Given the description of an element on the screen output the (x, y) to click on. 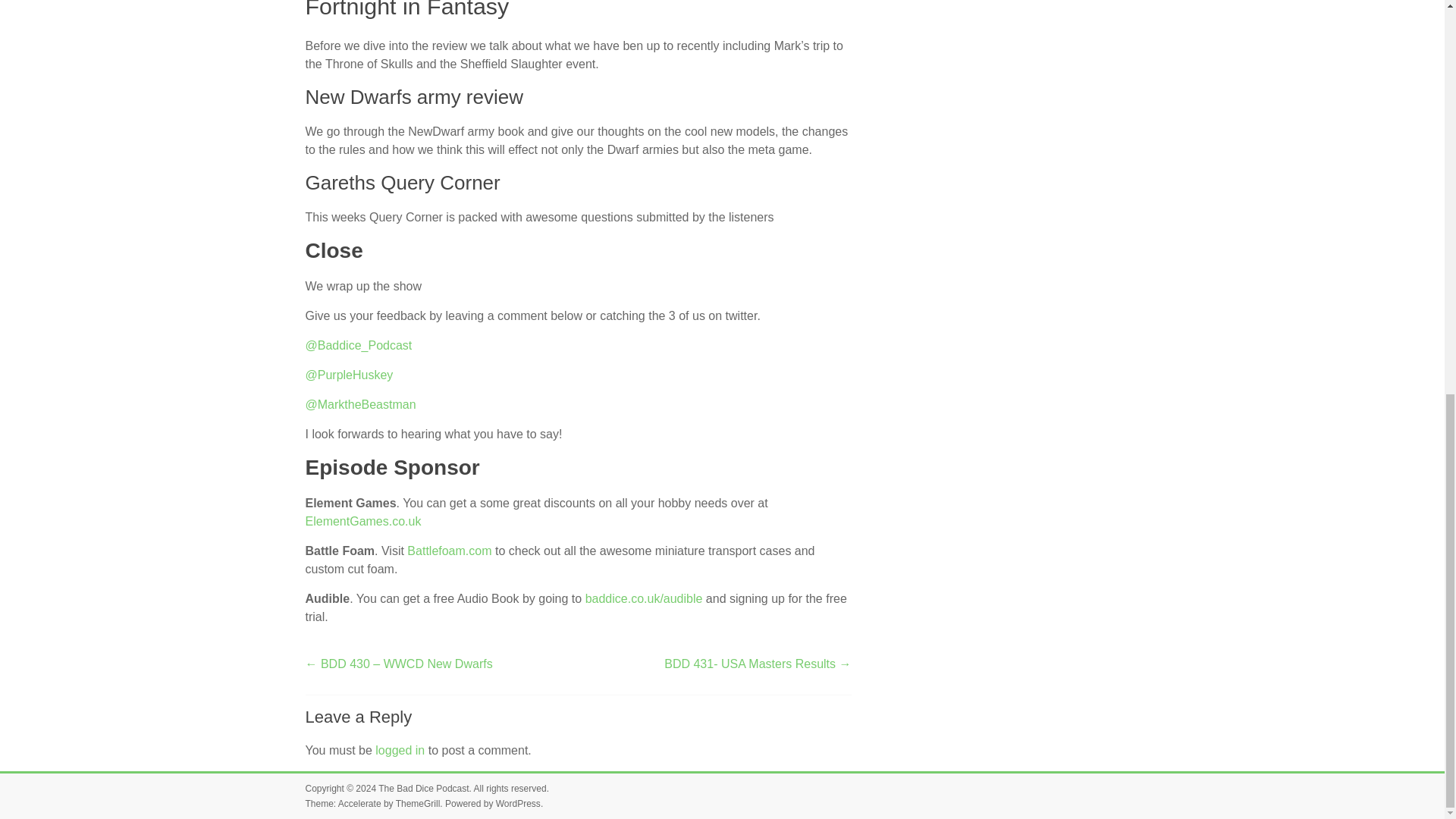
logged in (400, 749)
Battlefoam.com (449, 550)
ElementGames.co.uk (362, 521)
Accelerate (359, 803)
Accelerate (359, 803)
The Bad Dice Podcast (423, 787)
WordPress (518, 803)
WordPress (518, 803)
The Bad Dice Podcast (423, 787)
